Given the description of an element on the screen output the (x, y) to click on. 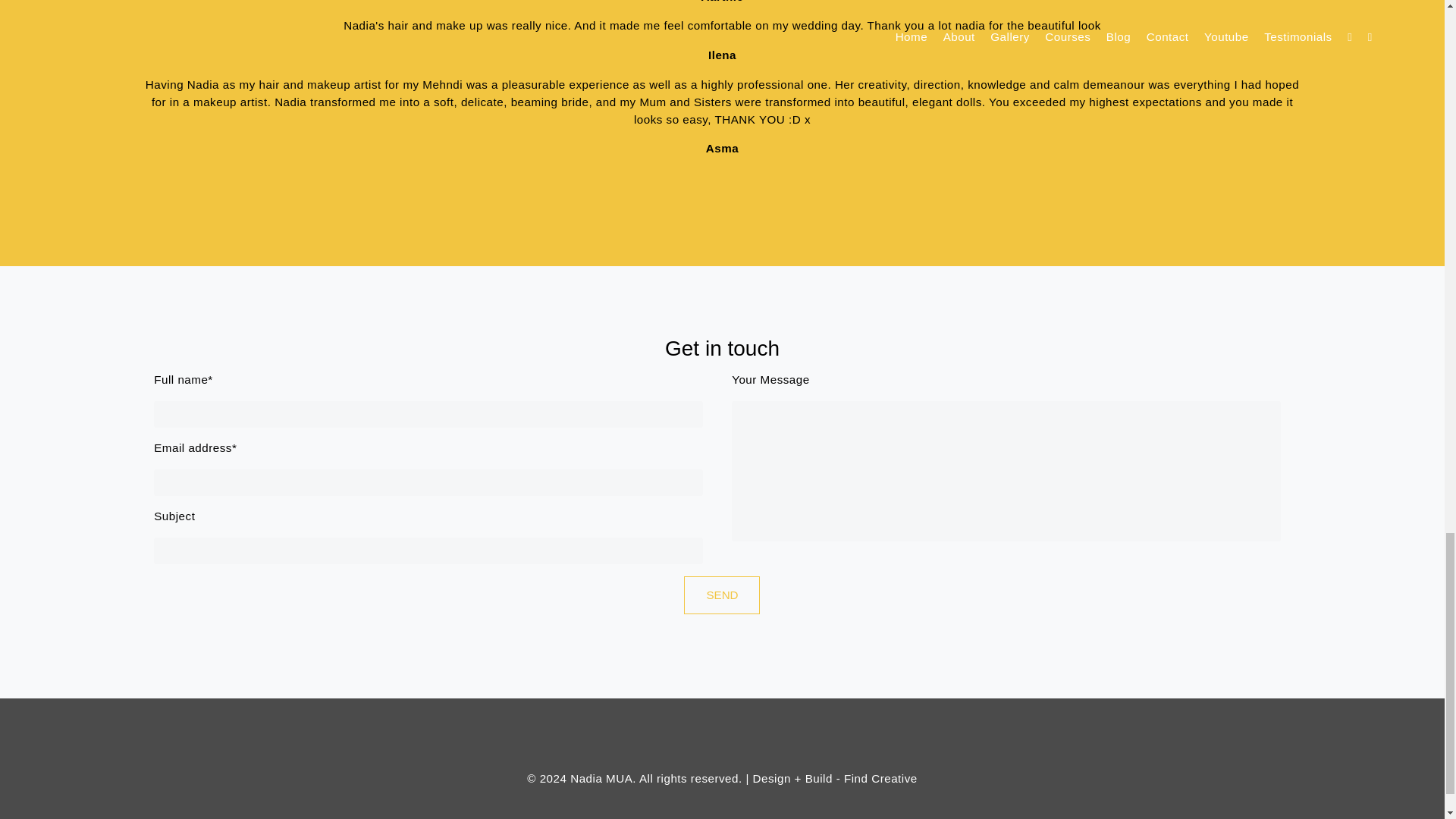
Find Creative (880, 778)
Send (722, 595)
Send (722, 595)
